Given the description of an element on the screen output the (x, y) to click on. 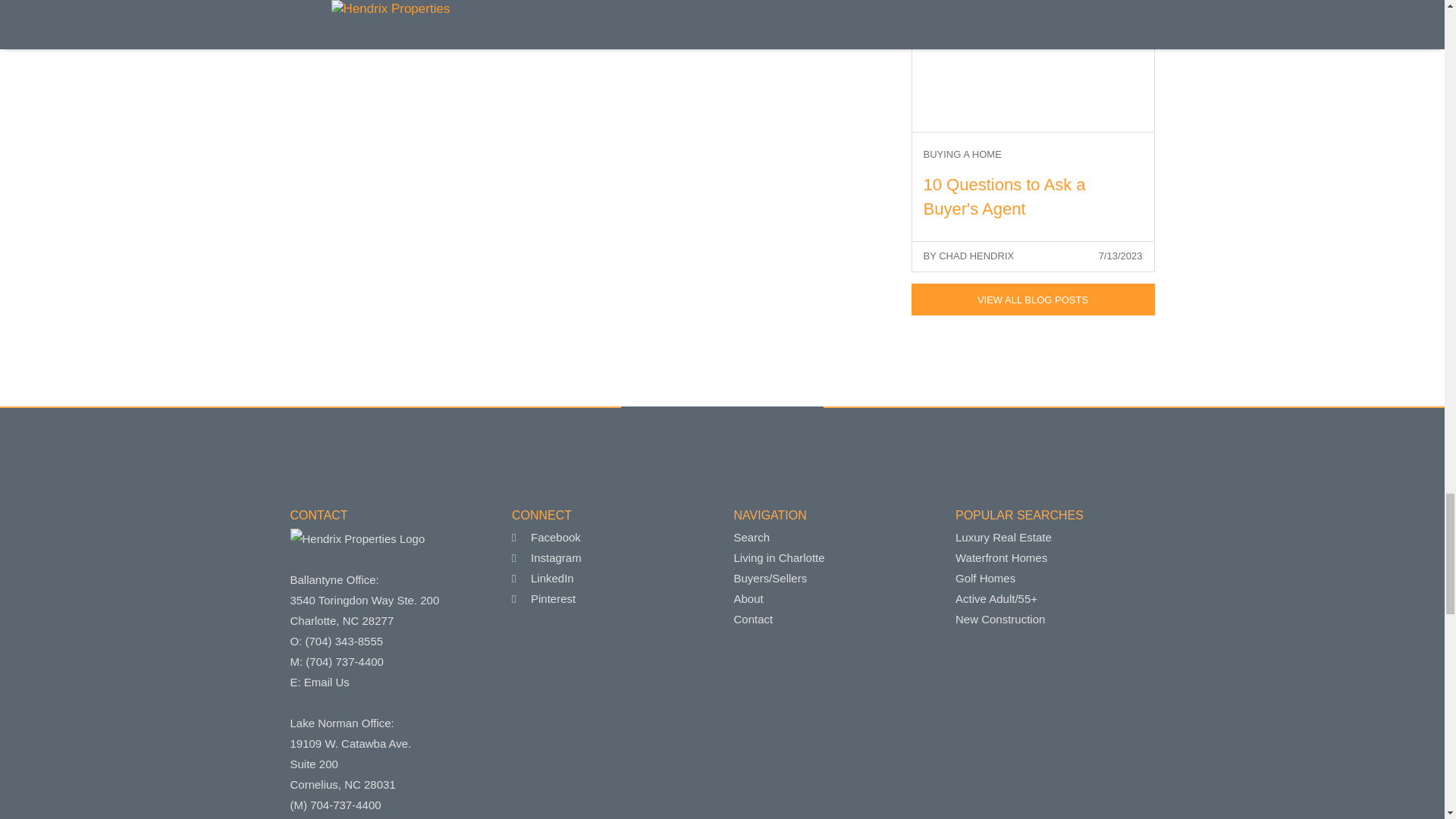
Hendrix Properties Charlotte (357, 538)
